Given the description of an element on the screen output the (x, y) to click on. 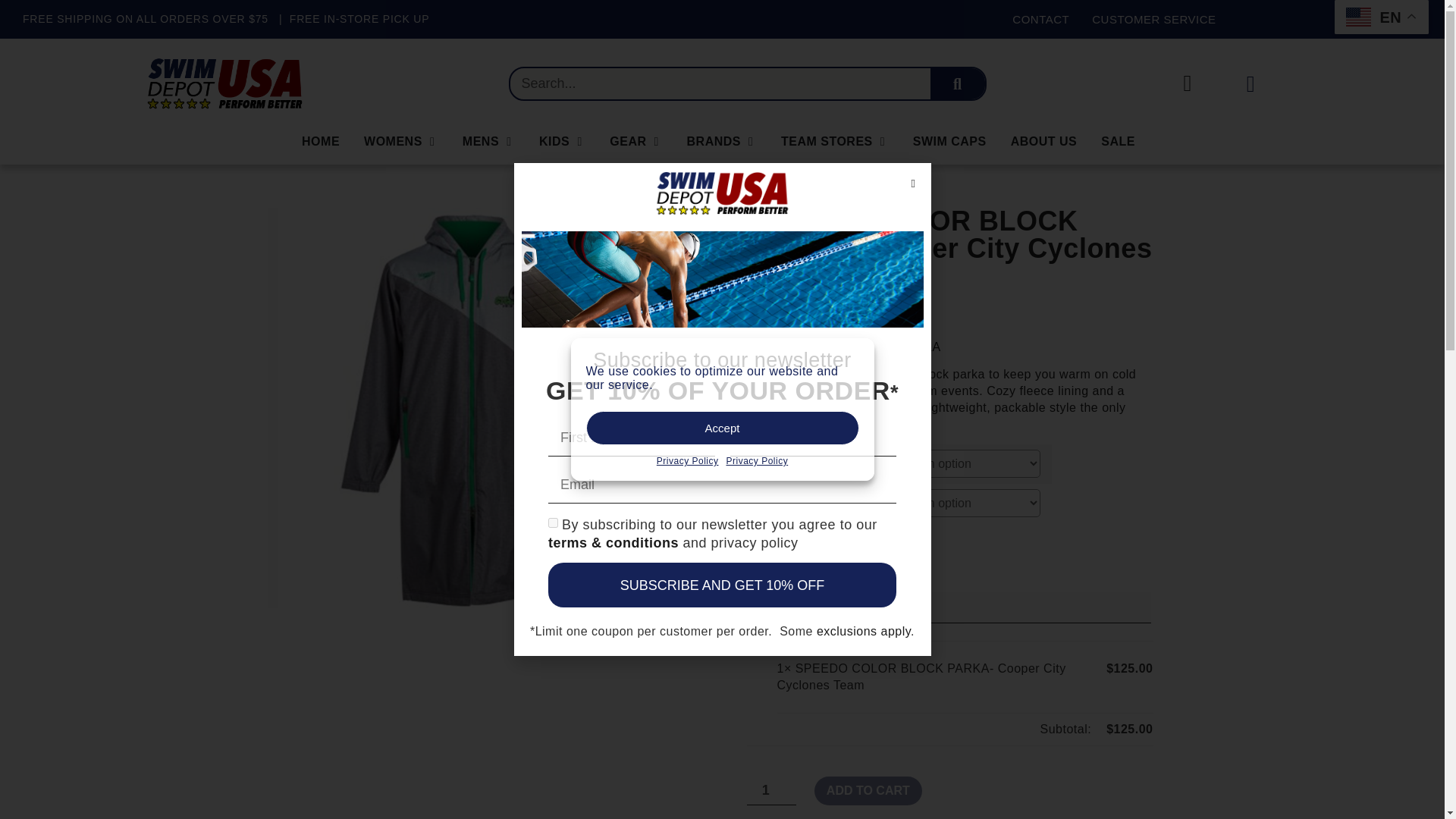
ABOUT US (1043, 141)
SALE (1117, 141)
CUSTOMER SERVICE (1153, 19)
Privacy Policy (757, 460)
Accept (722, 428)
CONTACT (1039, 19)
1 (769, 790)
HOME (320, 141)
SWIM CAPS (949, 141)
on (552, 522)
Privacy Policy (687, 460)
